Given the description of an element on the screen output the (x, y) to click on. 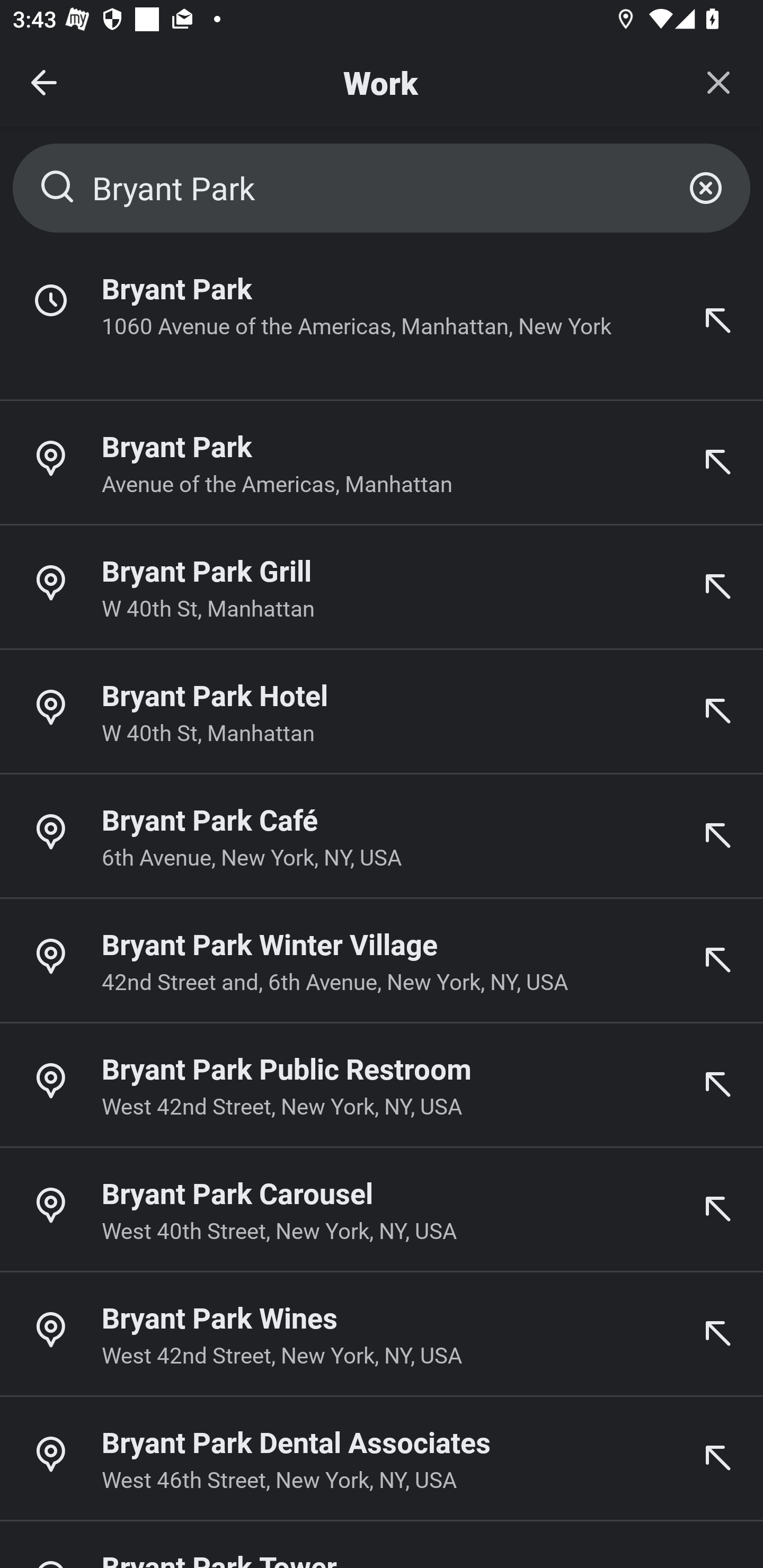
Bryant Park (381, 188)
